Given the description of an element on the screen output the (x, y) to click on. 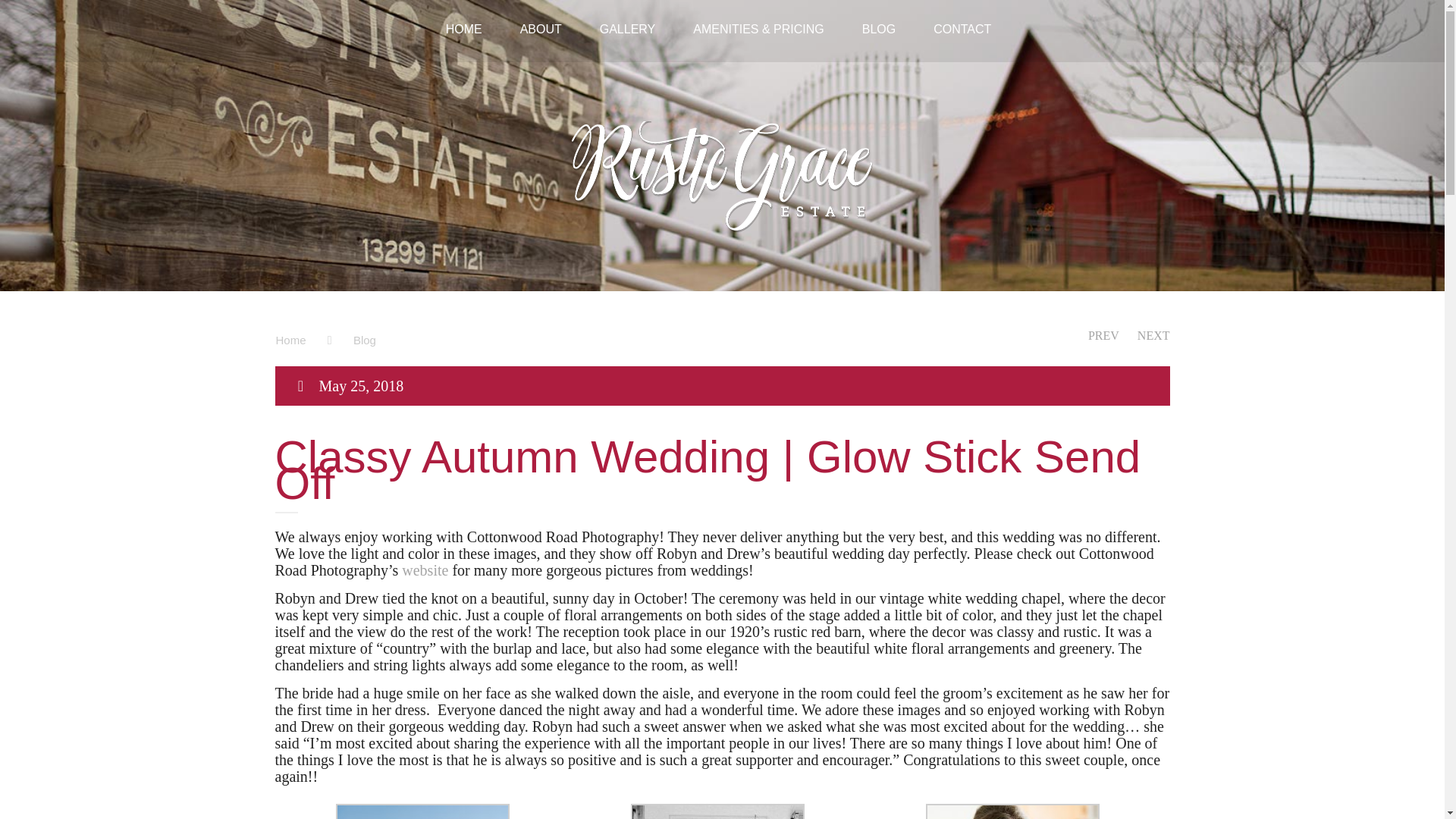
NEXT (1153, 335)
PREV (1103, 335)
HOME (478, 14)
Home (294, 340)
ABOUT (555, 14)
website (424, 569)
Blog (364, 340)
GALLERY (642, 15)
CONTACT (962, 15)
BLOG (893, 15)
